Given the description of an element on the screen output the (x, y) to click on. 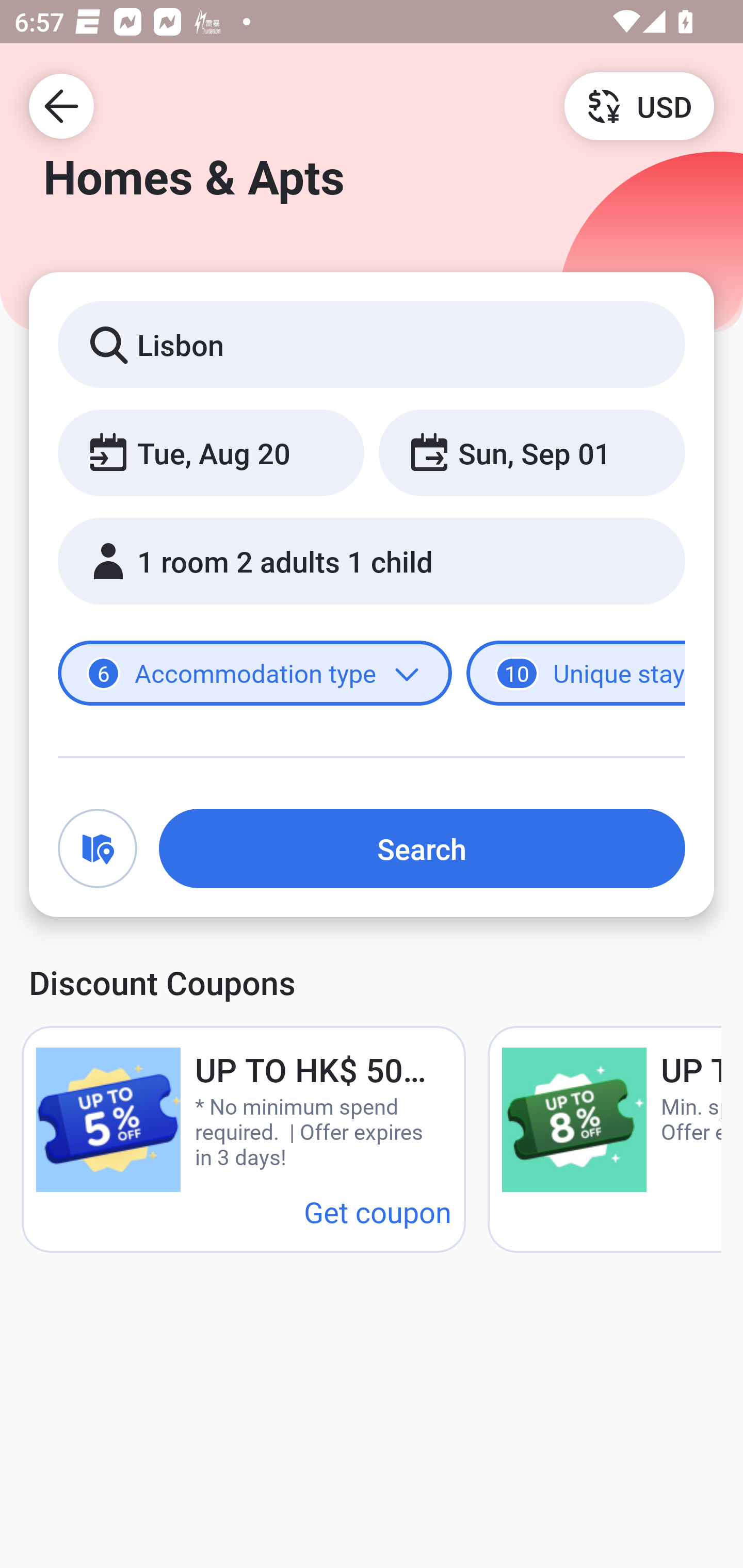
USD (639, 105)
Lisbon (371, 344)
Tue, Aug 20 (210, 452)
Sun, Sep 01 (531, 452)
1 room 2 adults 1 child (371, 561)
6 Accommodation type (254, 673)
10 Unique stays (575, 673)
Search (422, 848)
Get coupon (377, 1211)
